Given the description of an element on the screen output the (x, y) to click on. 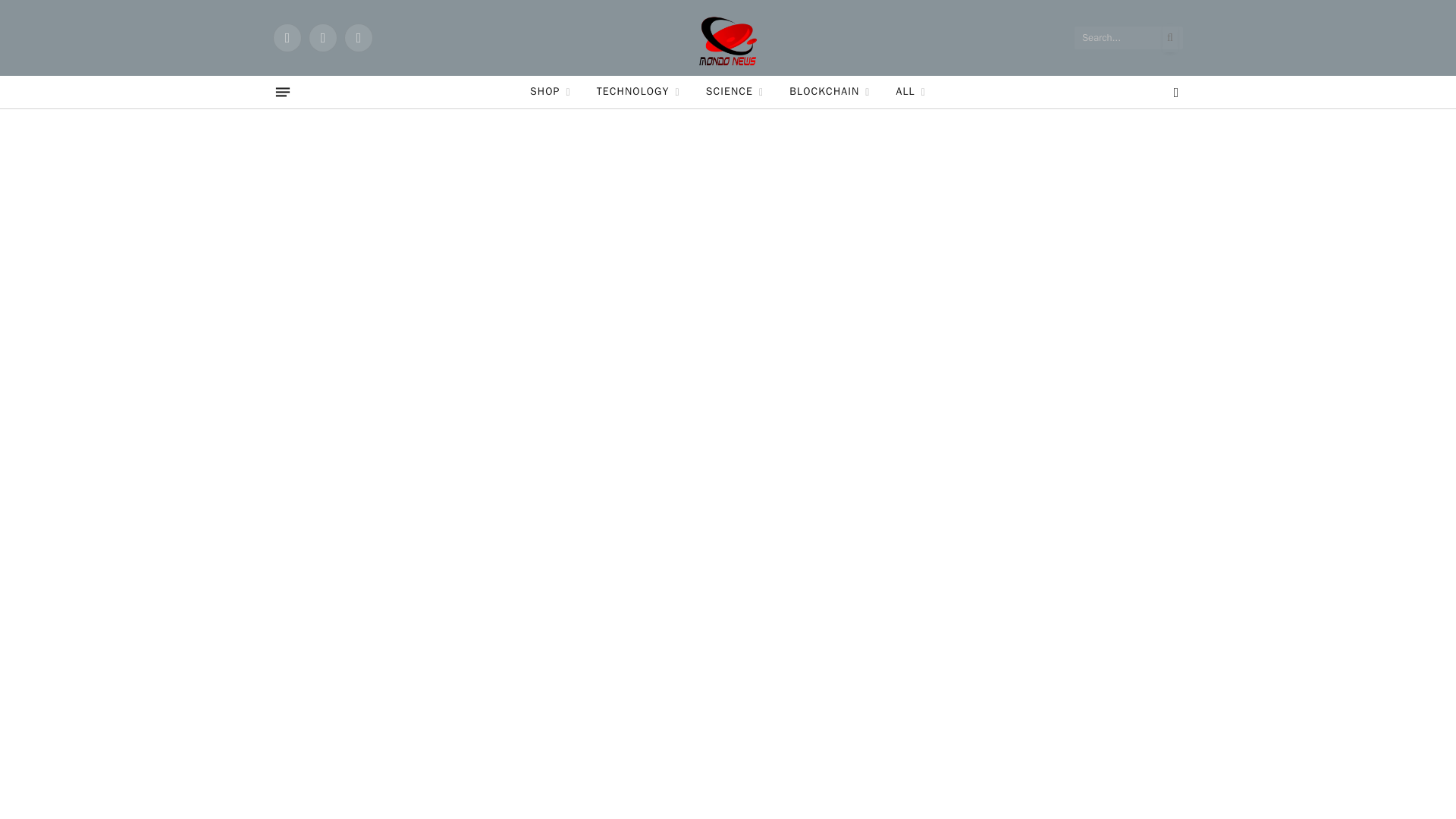
SHOP (549, 92)
TECHNOLOGY (638, 92)
Facebook (287, 37)
Instagram (357, 37)
